Given the description of an element on the screen output the (x, y) to click on. 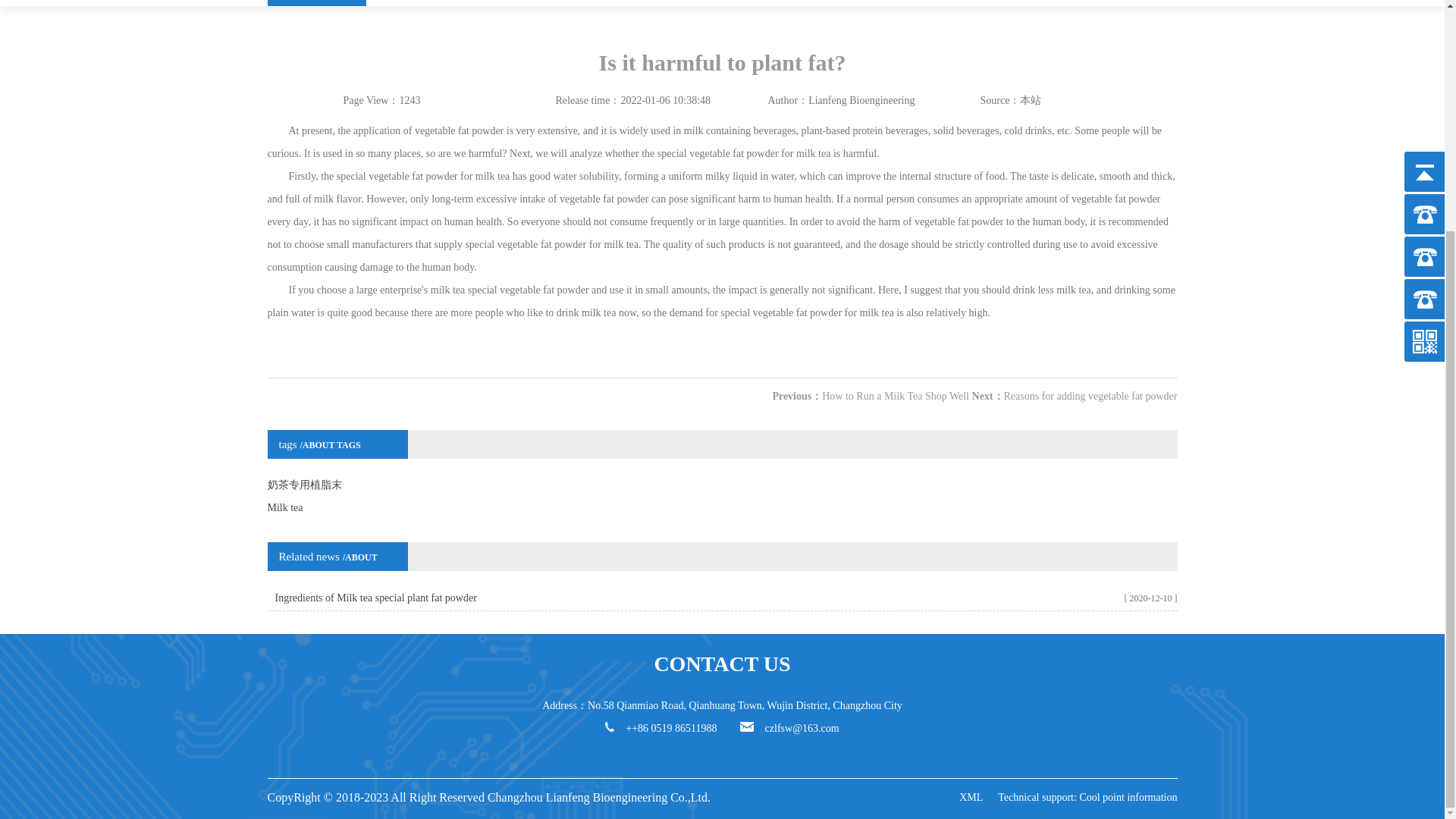
Technical support: Cool point information (1086, 797)
Company News (315, 2)
Industry News (414, 2)
Milk tea (721, 507)
Ingredients of Milk tea special plant fat powder (375, 598)
How to Run a Milk Tea Shop Well (895, 396)
Reasons for adding vegetable fat powder (1090, 396)
Ingredients of Milk tea special plant fat powder (375, 598)
